Given the description of an element on the screen output the (x, y) to click on. 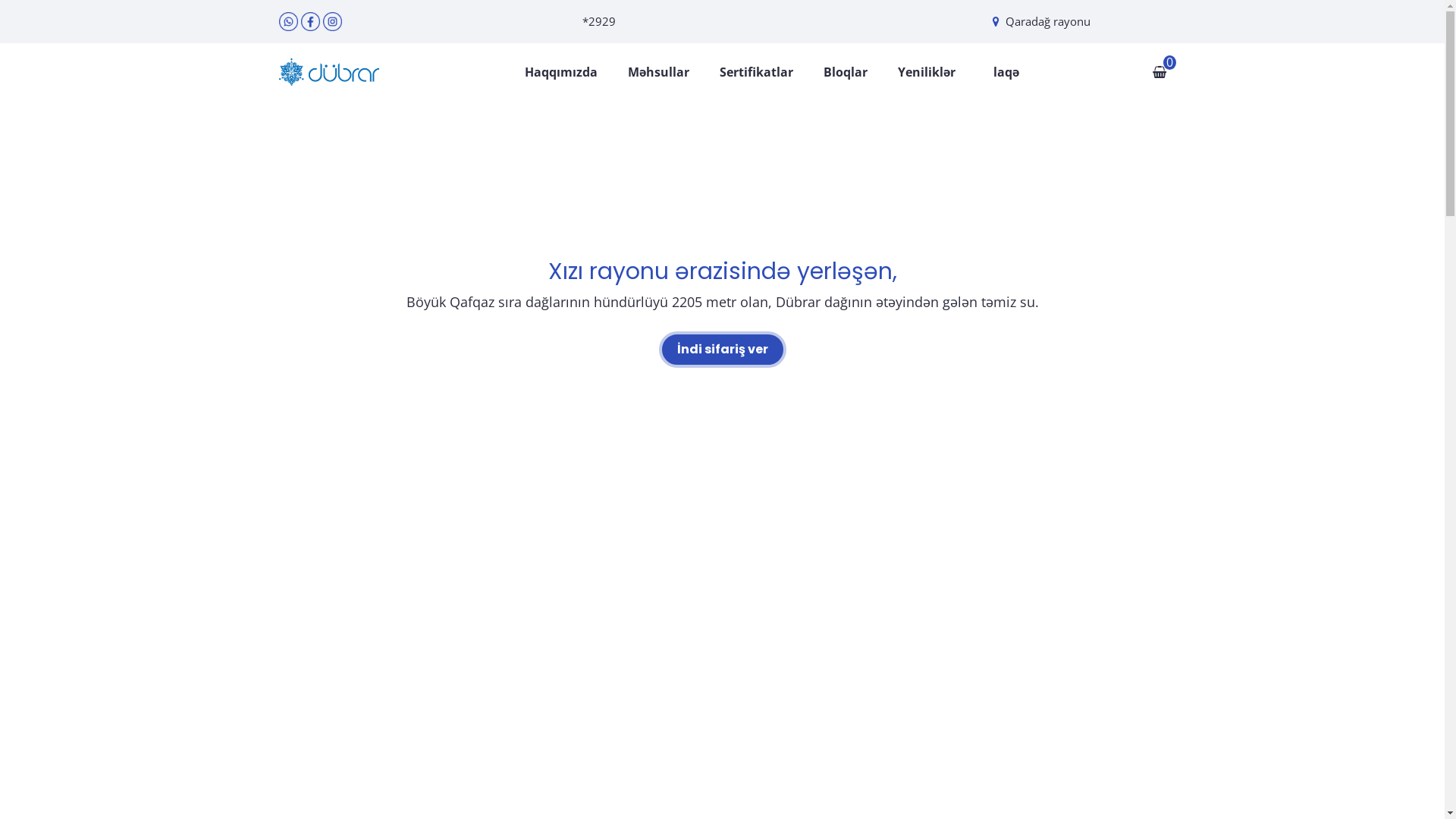
Sertifikatlar Element type: text (755, 71)
Bloqlar Element type: text (845, 71)
0 Element type: text (1159, 71)
